Given the description of an element on the screen output the (x, y) to click on. 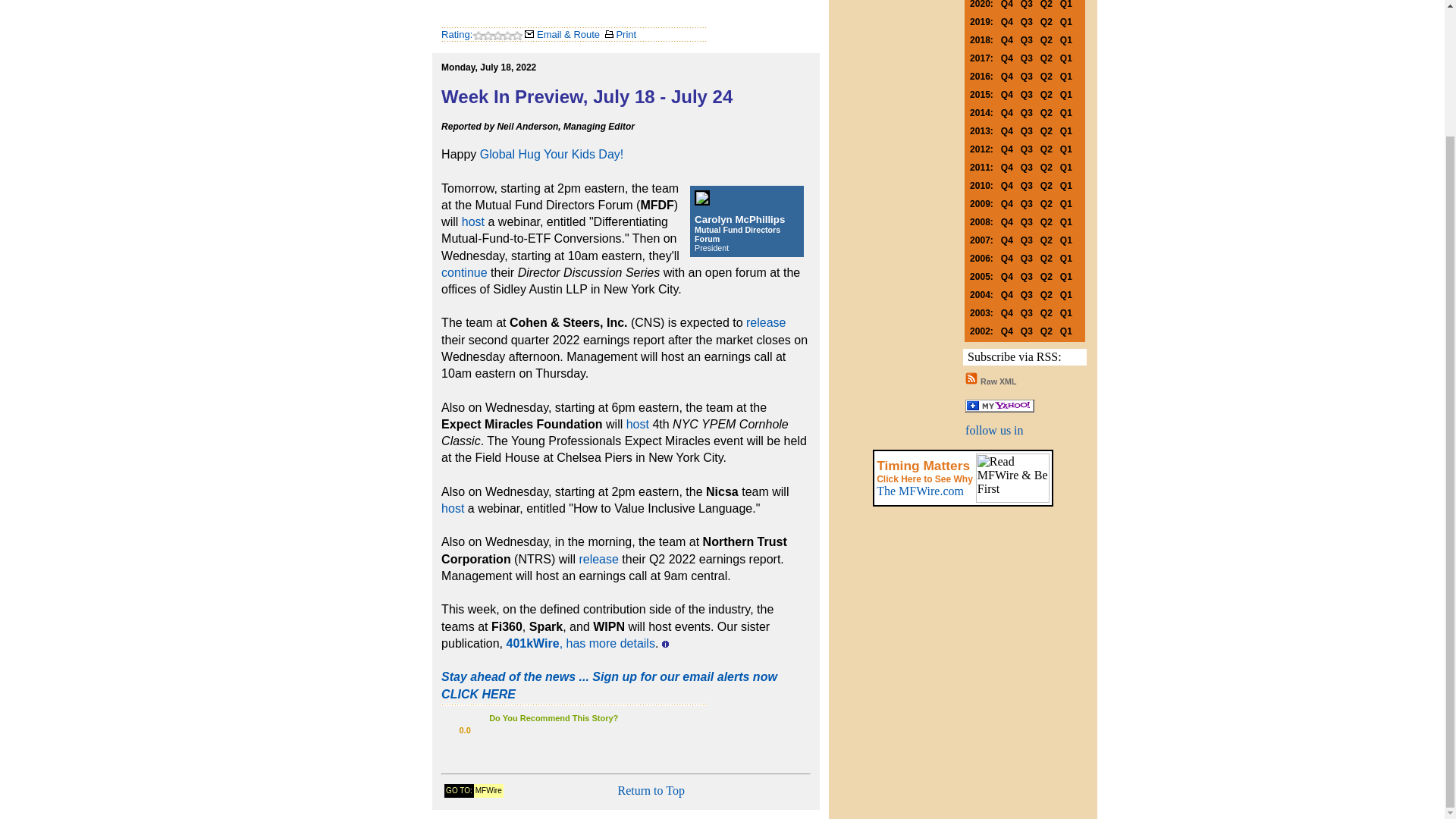
release (765, 322)
host (472, 221)
host (637, 423)
401kWire, has more details (580, 643)
Print (620, 34)
Even to My Boss - 4 stars (539, 729)
MFWire (489, 788)
1 (494, 729)
Excellent Story - 5 stars (554, 729)
For Competitors Only - 1 star (494, 729)
